Given the description of an element on the screen output the (x, y) to click on. 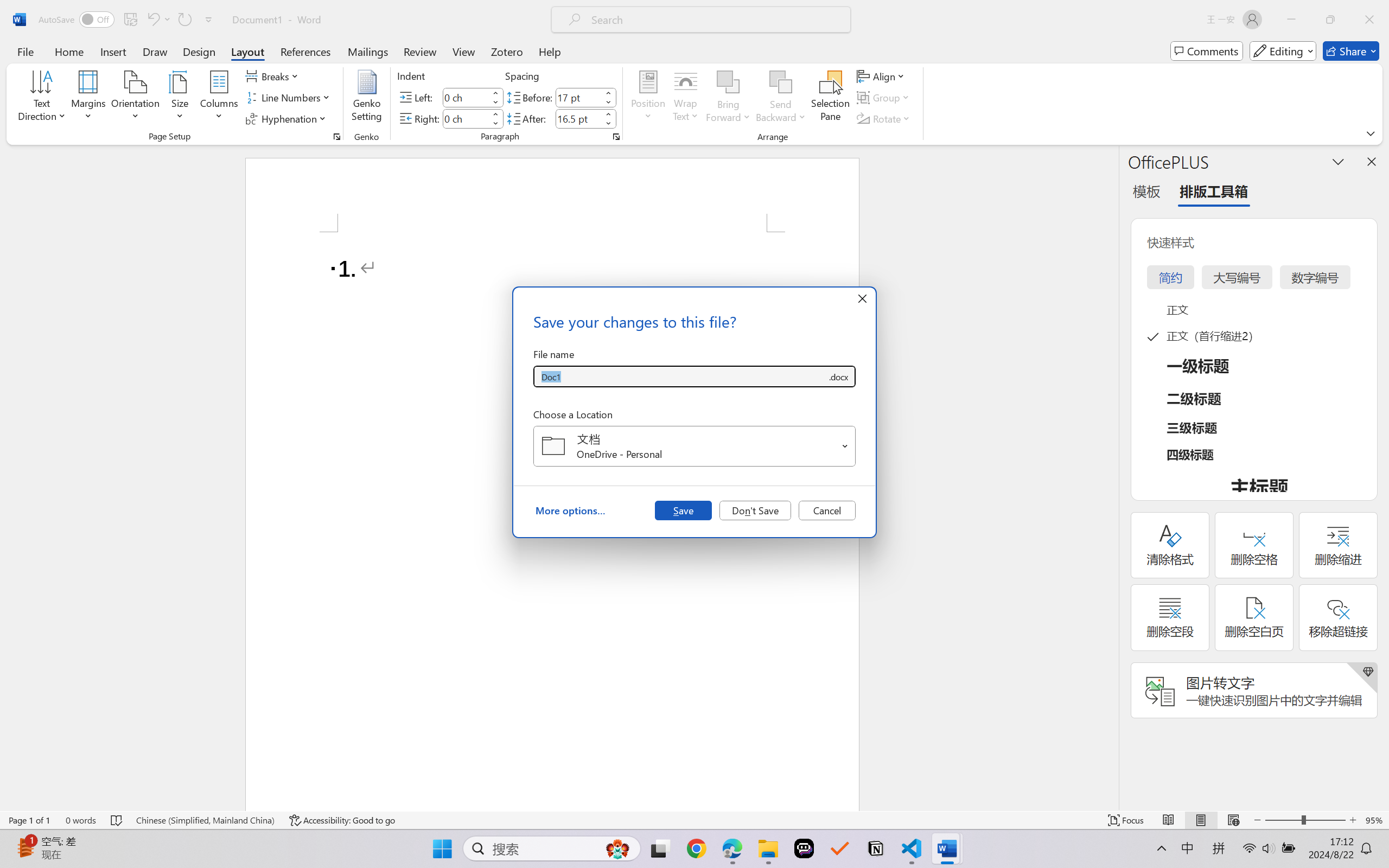
Undo Number Default (152, 19)
Align (881, 75)
Orientation (135, 97)
Zoom 95% (1374, 819)
